Given the description of an element on the screen output the (x, y) to click on. 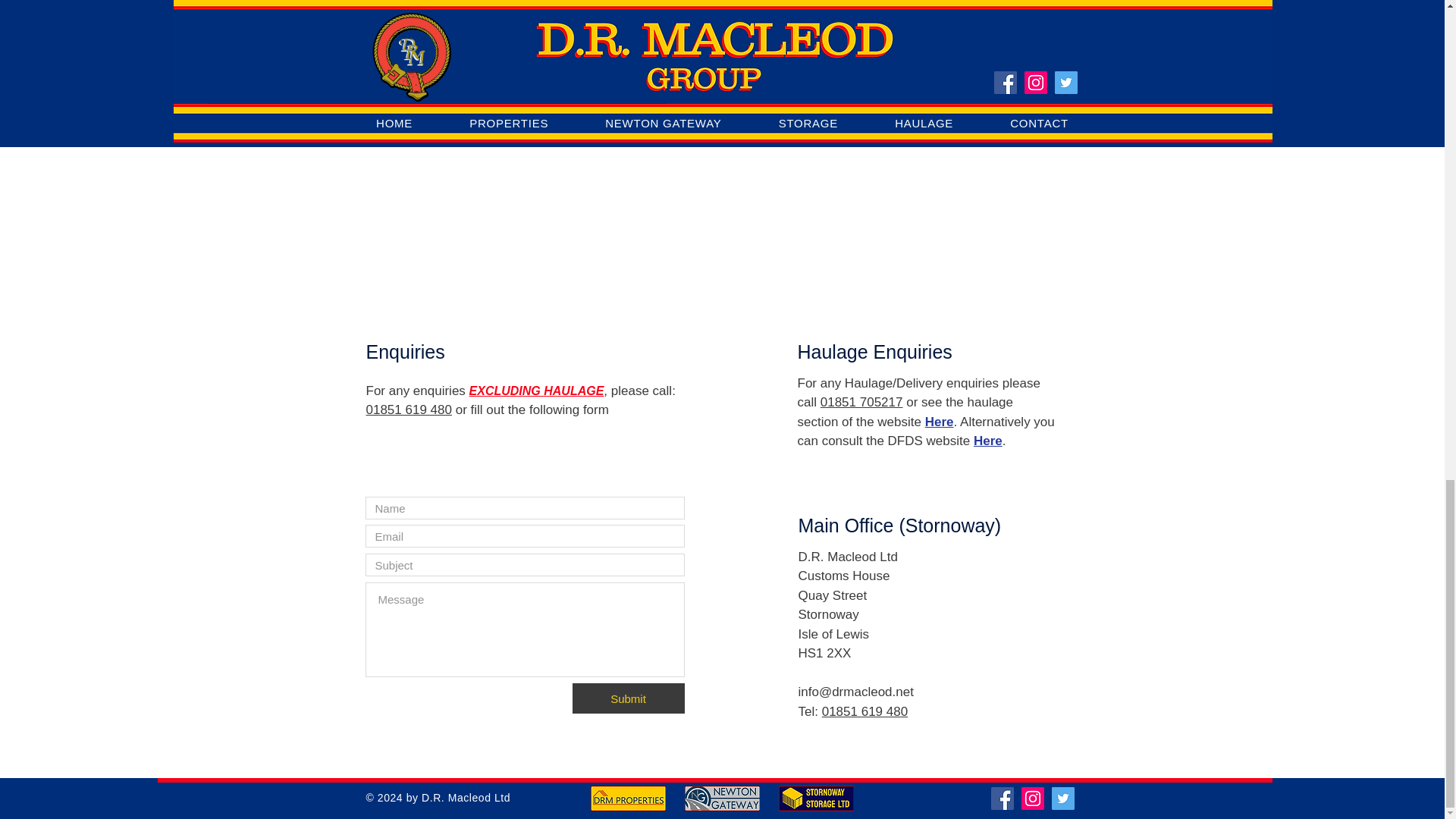
EXCLUDING HAULAGE (536, 391)
Here (938, 421)
Here (988, 440)
01851 619 480 (408, 409)
Submit (628, 698)
01851 619 480 (864, 711)
01851 705217 (861, 401)
